Given the description of an element on the screen output the (x, y) to click on. 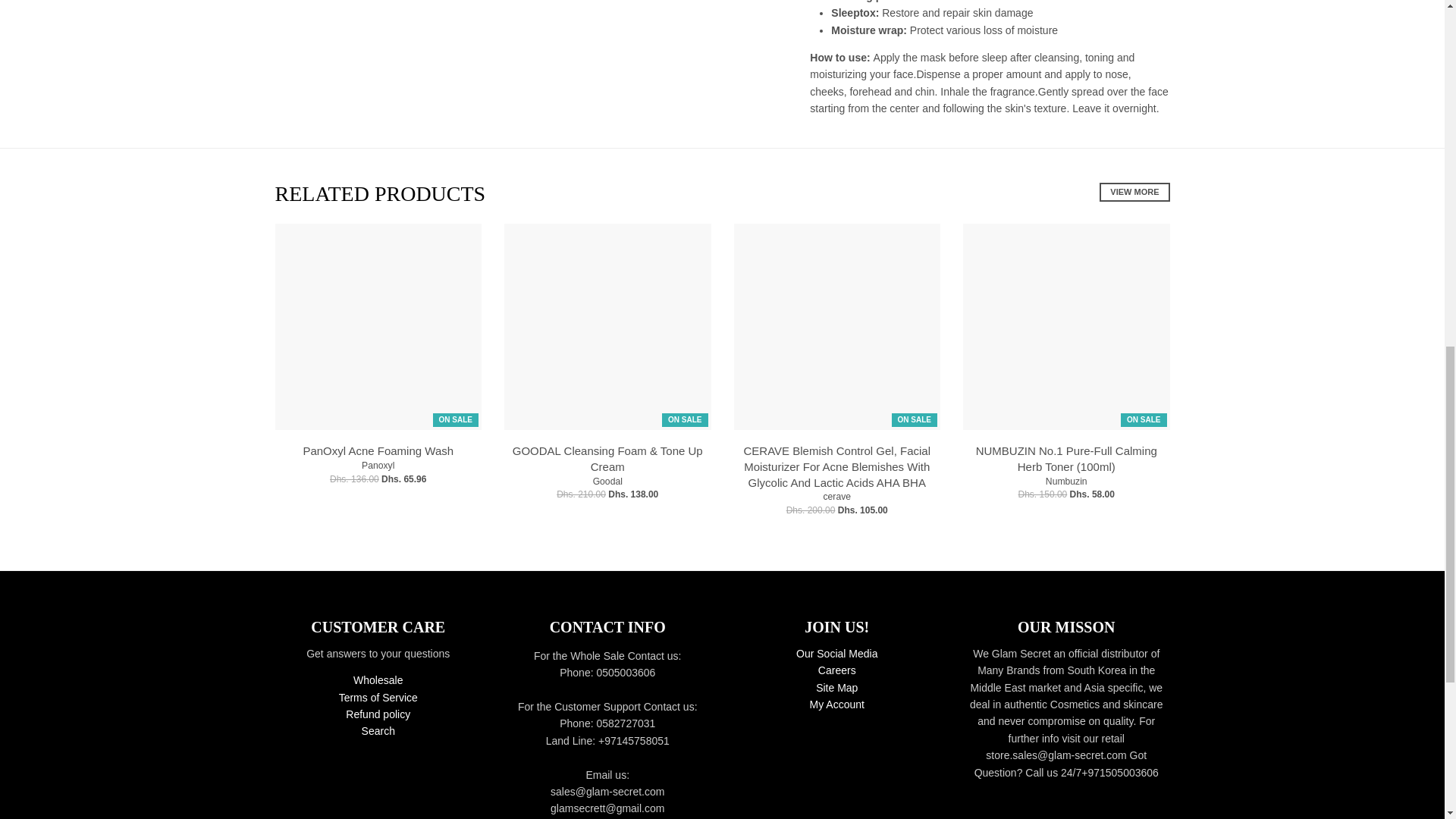
Panoxyl (377, 465)
cerave (836, 496)
Goodal (607, 480)
Numbuzin (1066, 480)
